Given the description of an element on the screen output the (x, y) to click on. 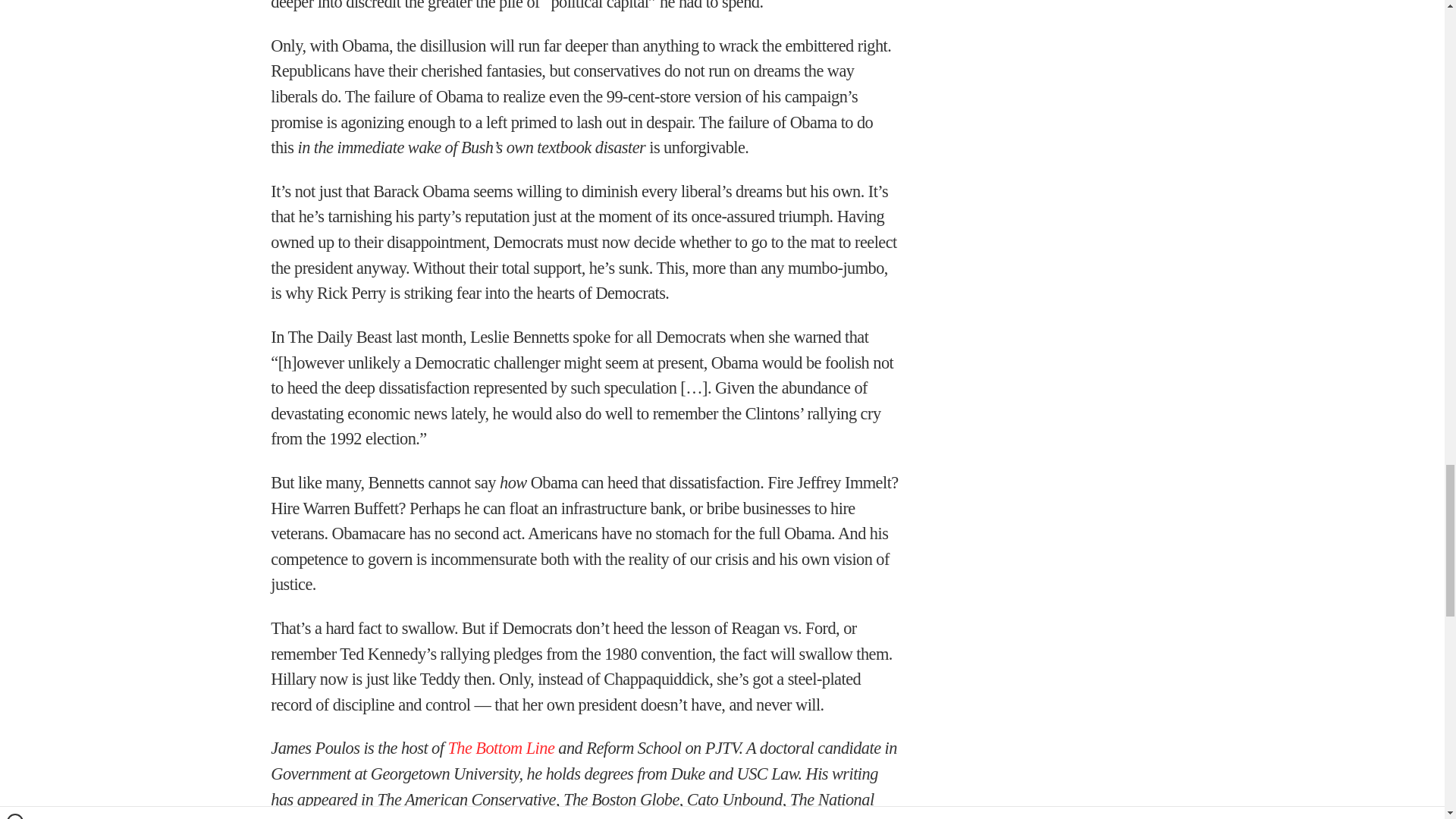
The Bottom Line (500, 747)
